Given the description of an element on the screen output the (x, y) to click on. 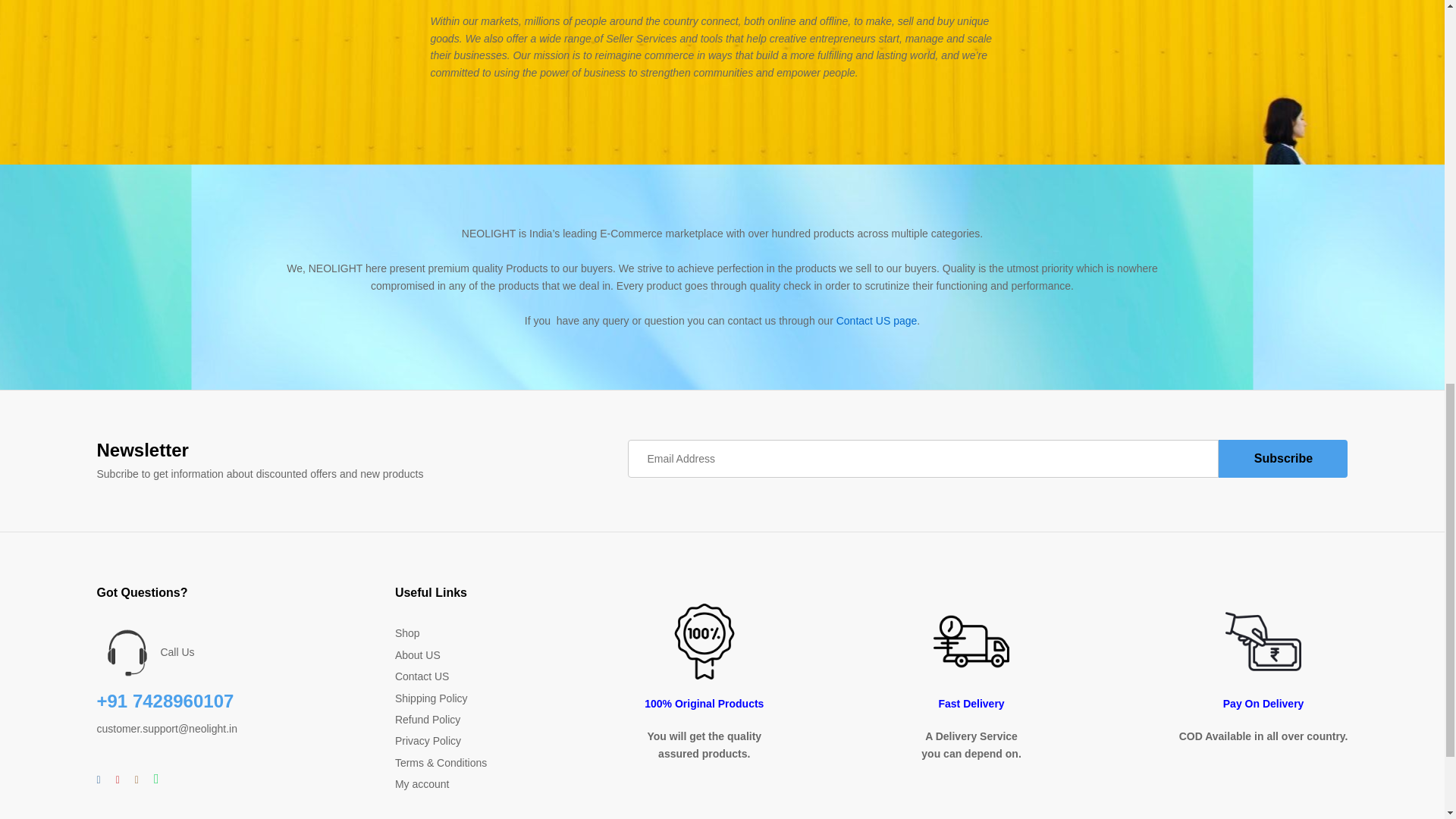
Pinterest (117, 779)
Instagram (137, 779)
Subscribe (1283, 458)
Whatsapp (157, 779)
Contact US page (876, 320)
Subscribe (1283, 458)
Facebook (97, 779)
